Given the description of an element on the screen output the (x, y) to click on. 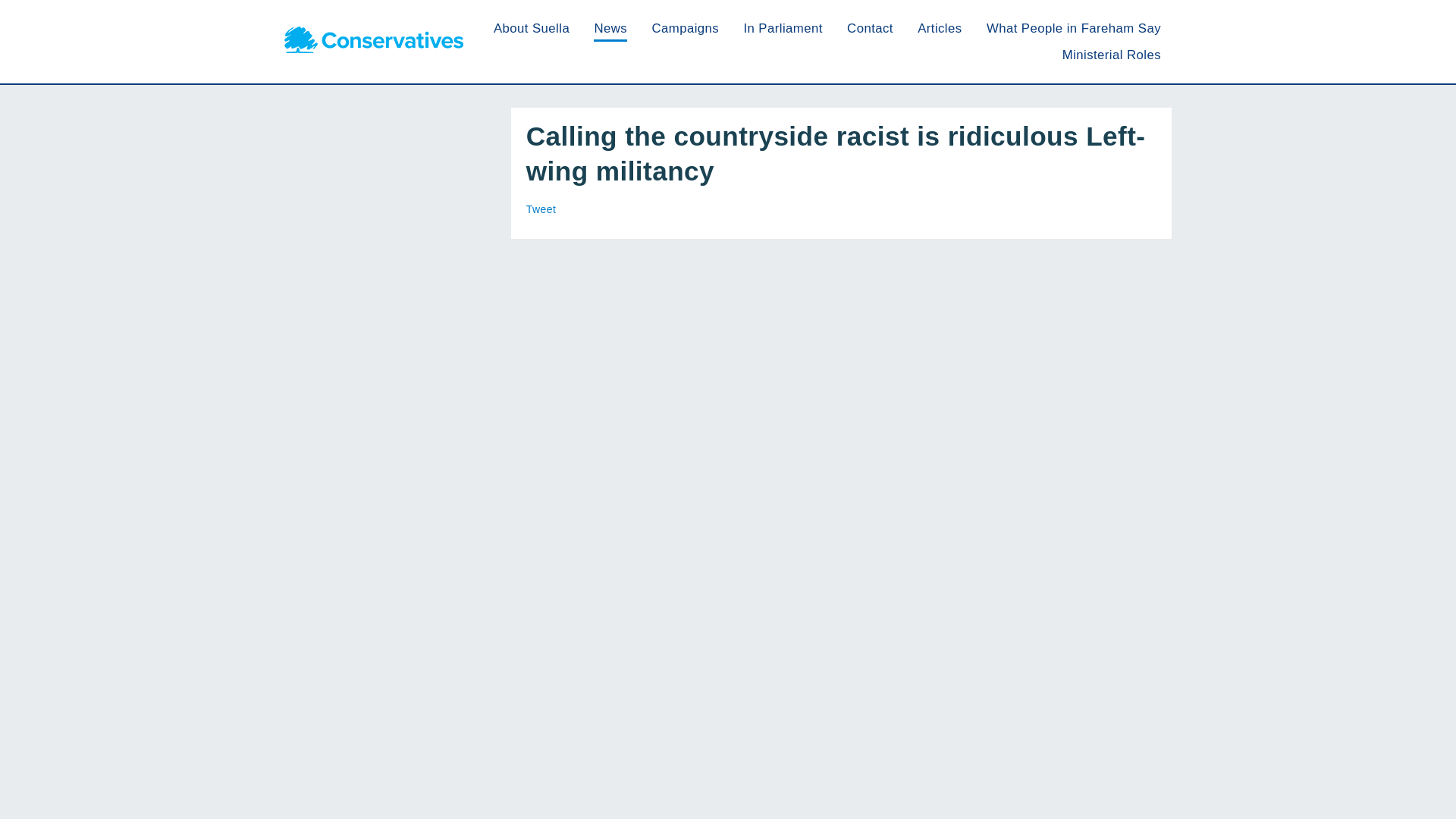
Ministerial Roles (1111, 54)
News (610, 28)
In Parliament (782, 28)
What People in Fareham Say (1073, 28)
Articles (938, 28)
About Suella (531, 28)
In Parliament (782, 28)
Tweet (540, 209)
Campaigns (684, 28)
